Given the description of an element on the screen output the (x, y) to click on. 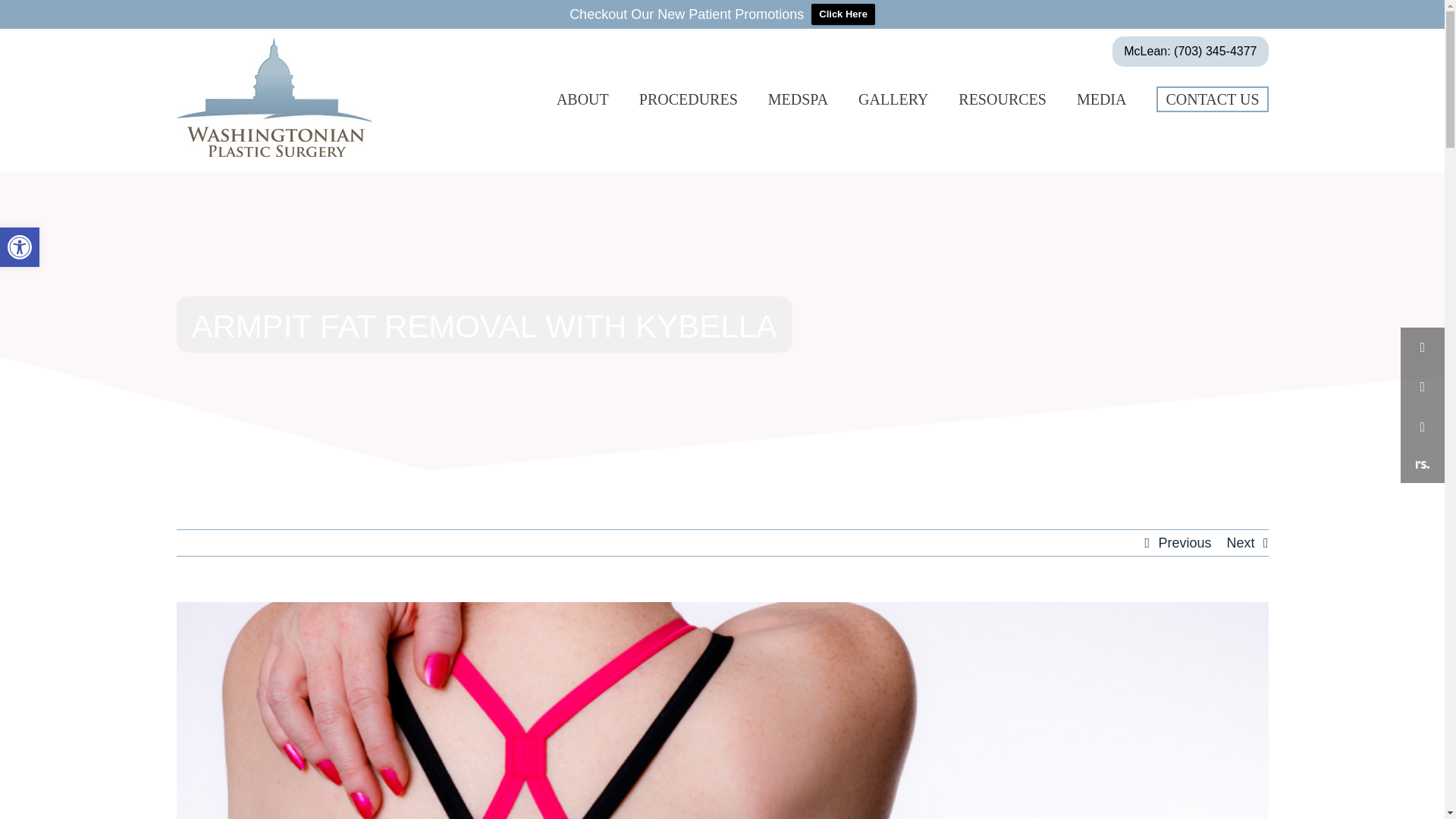
PROCEDURES (688, 99)
Accessibility (19, 246)
Open toolbar (19, 246)
Click Here (842, 14)
